Given the description of an element on the screen output the (x, y) to click on. 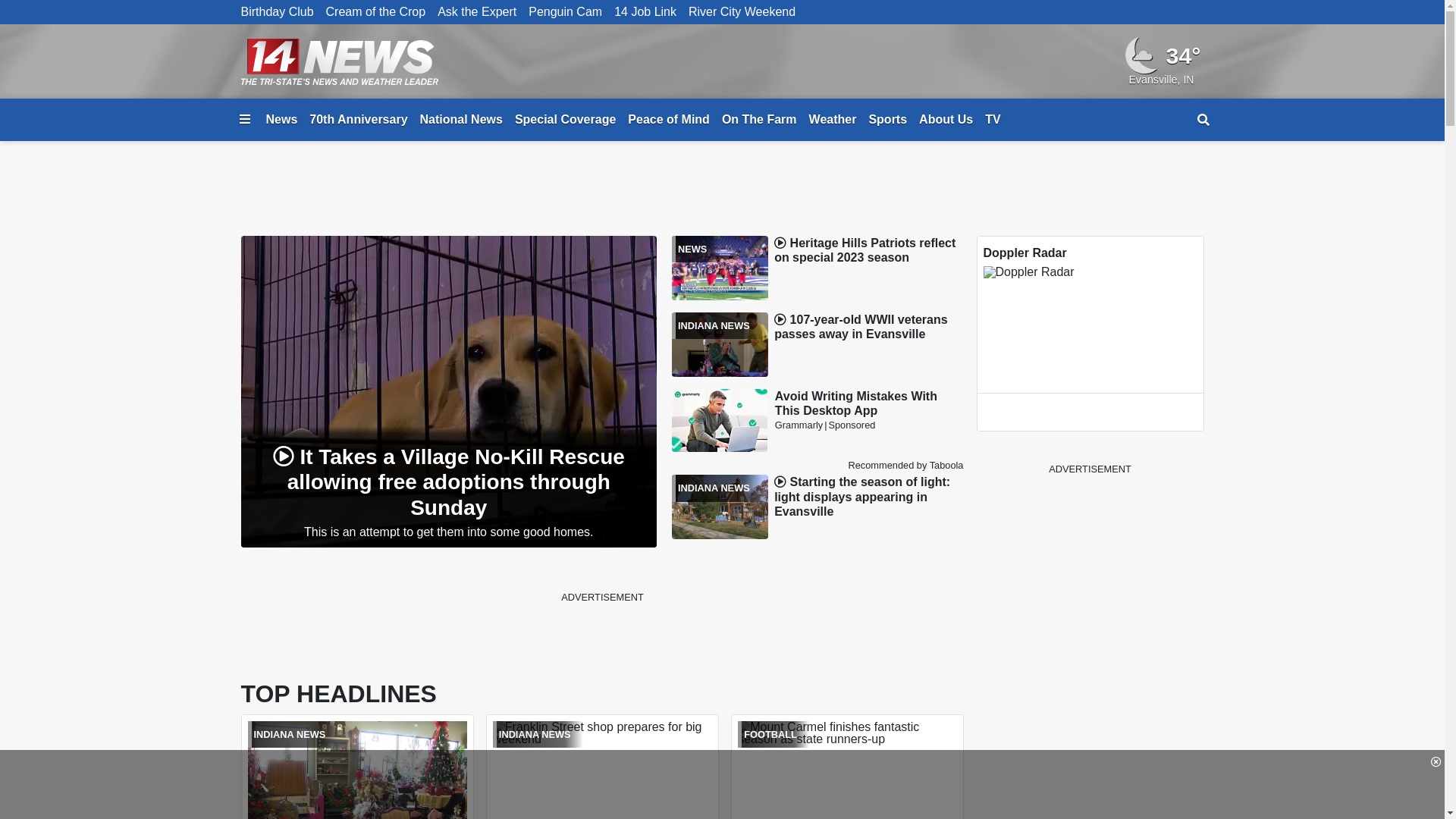
National News Element type: text (461, 119)
14 Job Link Element type: text (645, 11)
TV Element type: text (992, 119)
Sponsored Element type: text (851, 424)
Sports Element type: text (887, 119)
River City Weekend Element type: text (741, 11)
Cream of the Crop Element type: text (376, 11)
Recommended by Taboola Element type: text (905, 466)
Penguin Cam Element type: text (565, 11)
Birthday Club Element type: text (277, 11)
Weather Element type: text (832, 119)
Heritage Hills Patriots reflect on special 2023 season Element type: text (864, 249)
News Element type: text (281, 119)
107-year-old WWII veterans passes away in Evansville Element type: text (860, 326)
About Us Element type: text (946, 119)
Ask the Expert Element type: text (476, 11)
Peace of Mind Element type: text (668, 119)
On The Farm Element type: text (759, 119)
Special Coverage Element type: text (564, 119)
70th Anniversary Element type: text (358, 119)
